Given the description of an element on the screen output the (x, y) to click on. 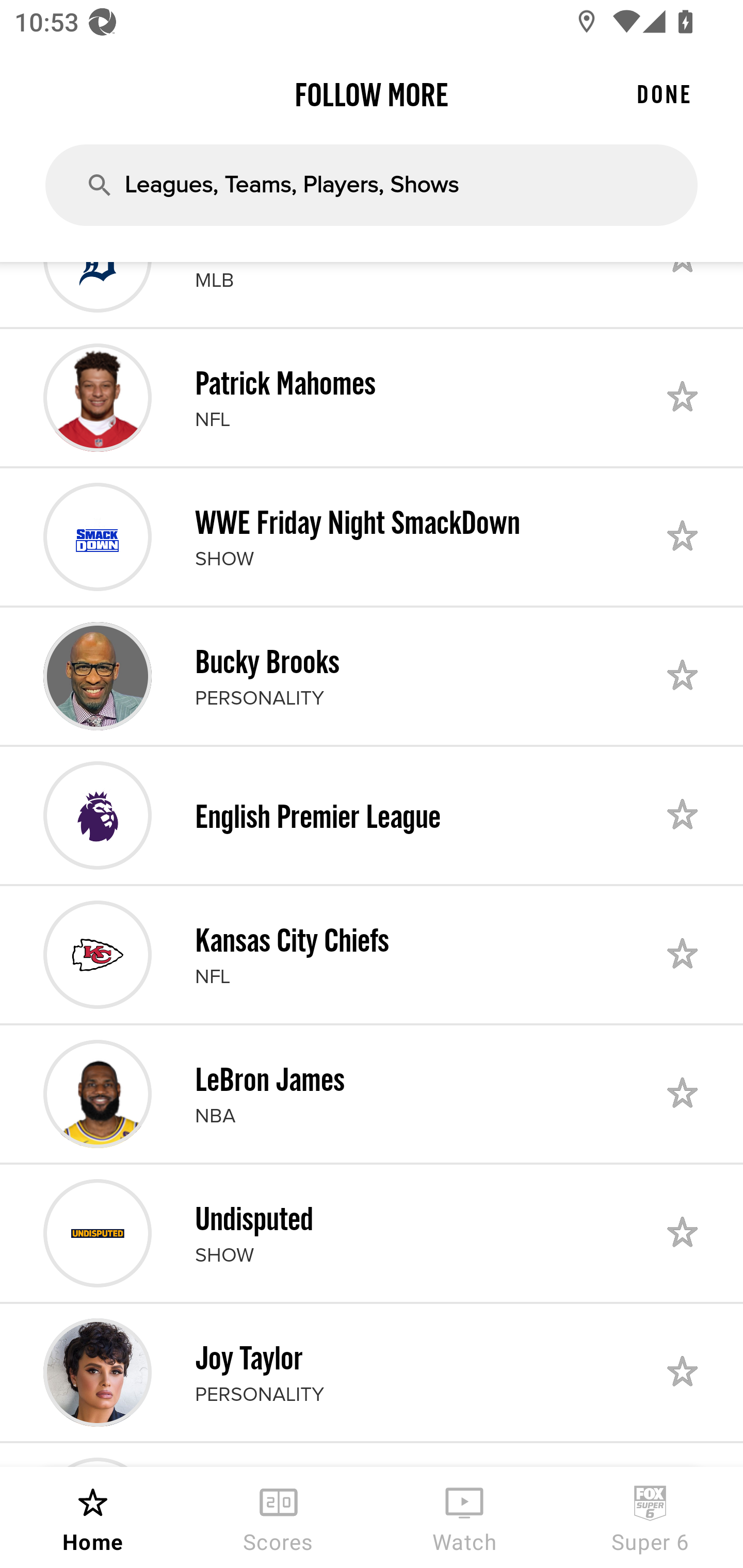
DONE (663, 93)
Leagues, Teams, Players, Shows (371, 184)
Patrick Mahomes NFL (371, 397)
WWE Friday Night SmackDown SHOW (371, 536)
Bucky Brooks PERSONALITY (371, 676)
English Premier League (371, 815)
Kansas City Chiefs NFL (371, 954)
LeBron James NBA (371, 1093)
Undisputed SHOW (371, 1233)
Joy Taylor PERSONALITY (371, 1372)
Scores (278, 1517)
Watch (464, 1517)
Super 6 (650, 1517)
